Given the description of an element on the screen output the (x, y) to click on. 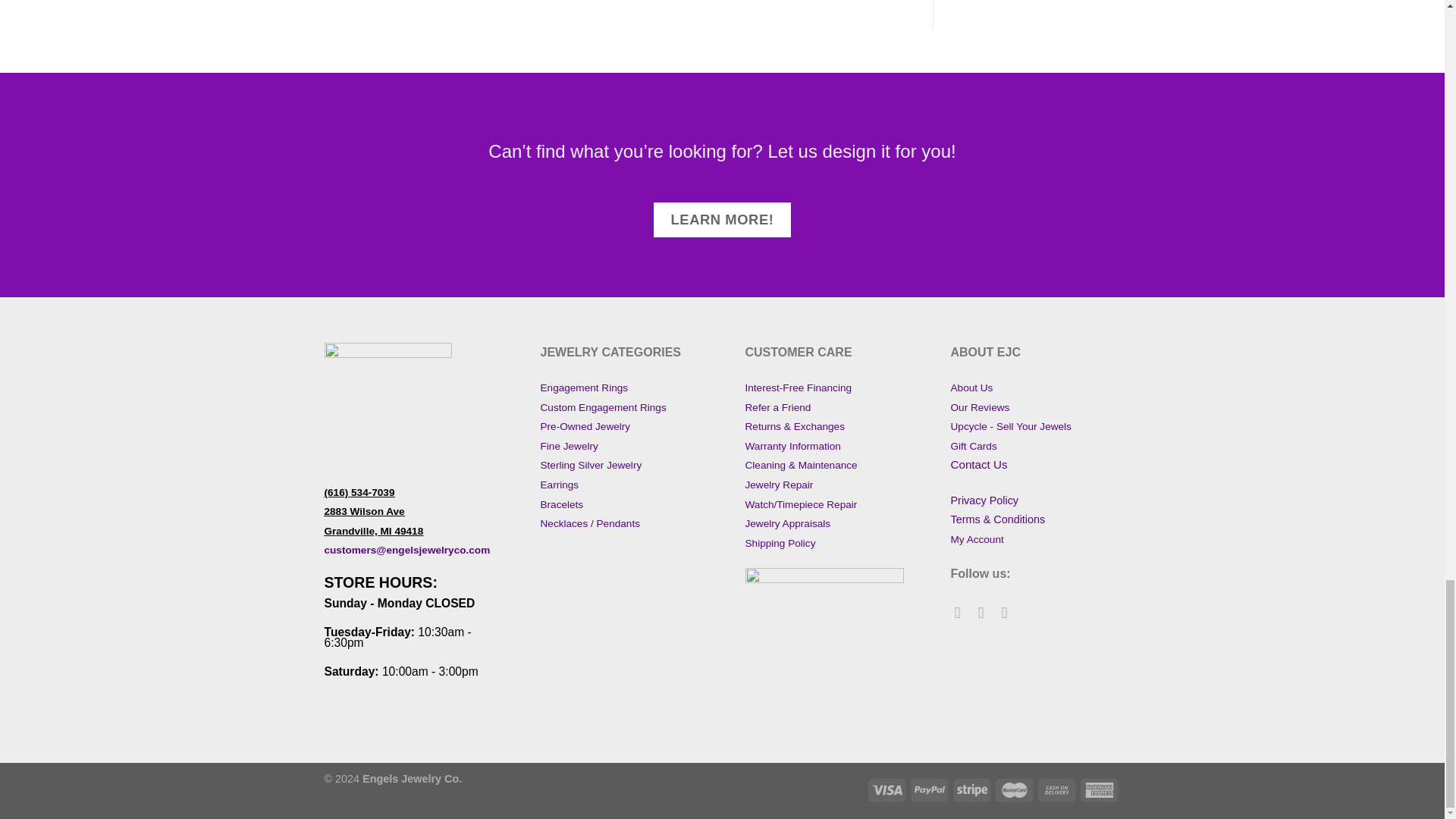
Follow on Facebook (963, 611)
Follow on Instagram (986, 611)
Follow on YouTube (1009, 611)
